Given the description of an element on the screen output the (x, y) to click on. 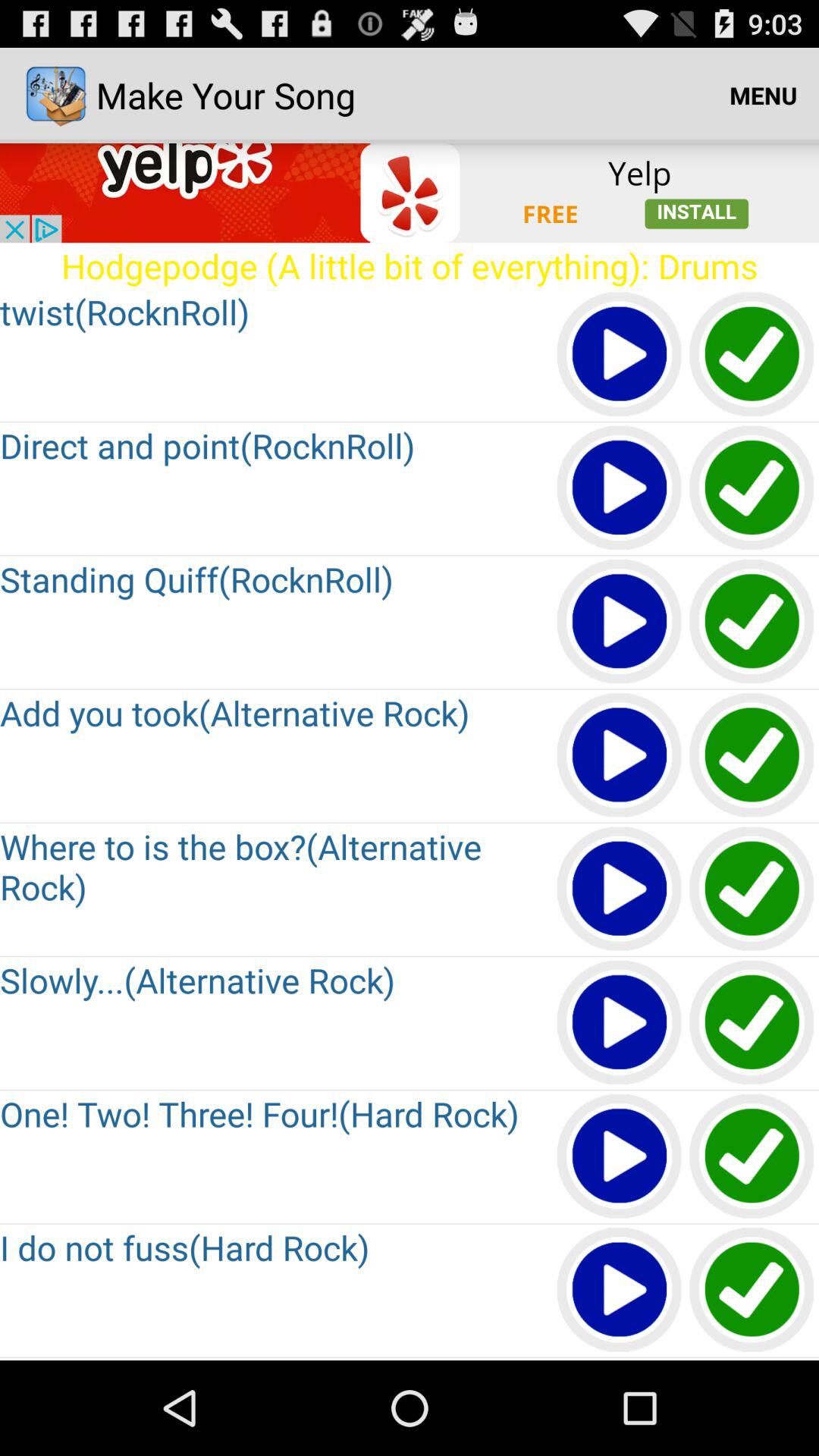
play i do not fuss (619, 1290)
